Given the description of an element on the screen output the (x, y) to click on. 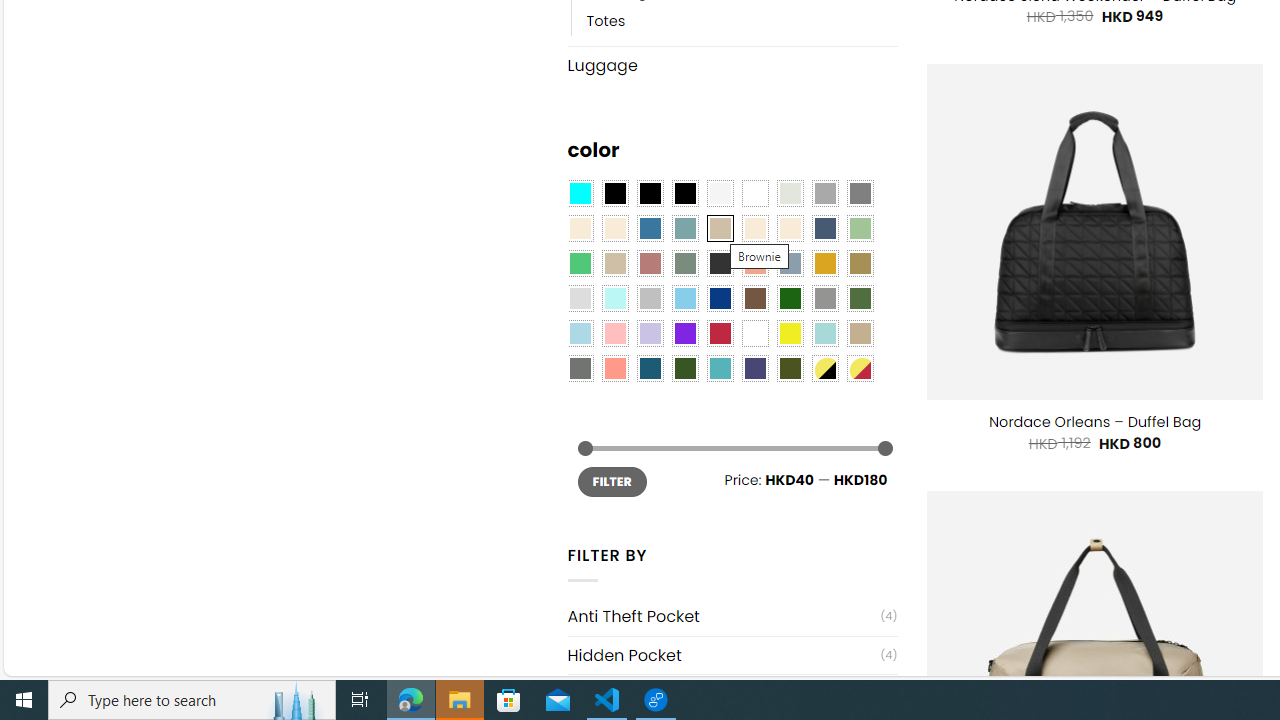
Purple Navy (755, 368)
Forest (684, 368)
Hidden Pocket(4) (732, 655)
Sky Blue (684, 298)
Emerald Green (579, 264)
Light Green (859, 228)
Dark Green (789, 298)
Dusty Blue (789, 264)
Light Blue (579, 334)
Hale Navy (824, 228)
Anti Theft Pocket(4) (732, 616)
Dull Nickle (579, 368)
Light Gray (579, 298)
Laptop Sleeve (723, 694)
Capri Blue (650, 368)
